Given the description of an element on the screen output the (x, y) to click on. 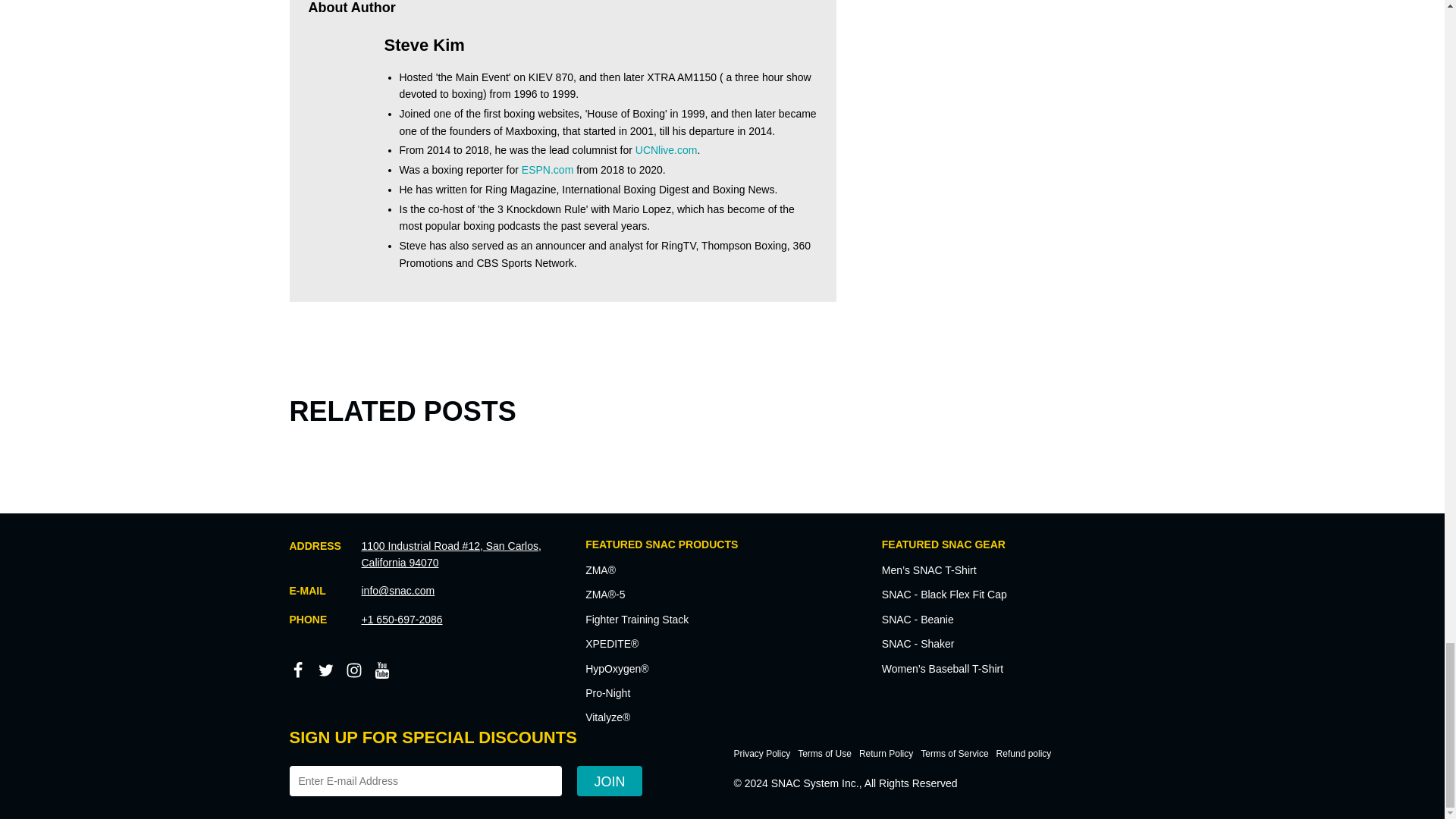
Join (609, 780)
